Given the description of an element on the screen output the (x, y) to click on. 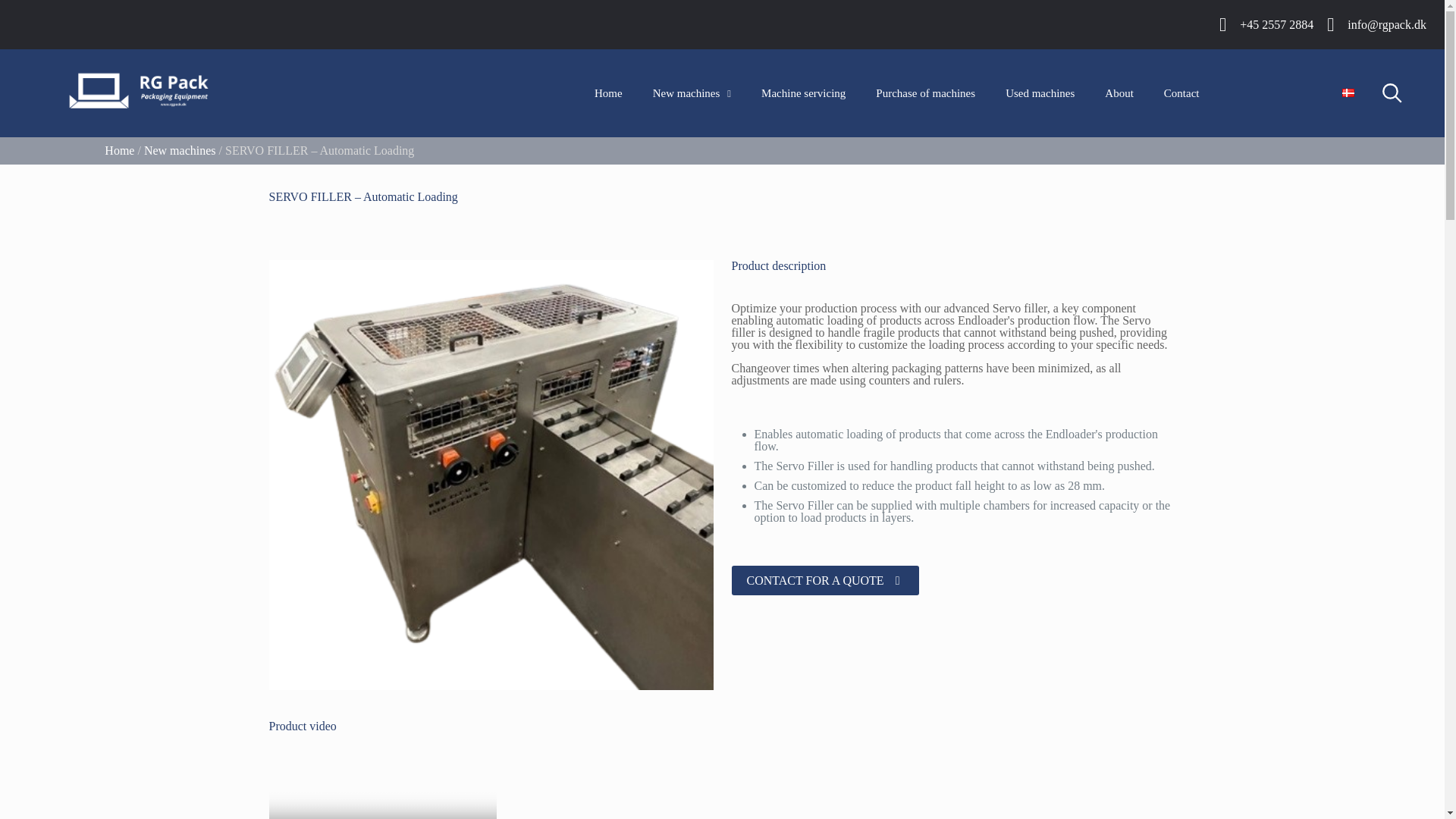
New machines (691, 93)
Machine servicing (802, 93)
New machines (179, 150)
Purchase of machines (925, 93)
Home (608, 93)
Contact (1181, 93)
Used machines (1039, 93)
About (1118, 93)
Home (118, 150)
